Given the description of an element on the screen output the (x, y) to click on. 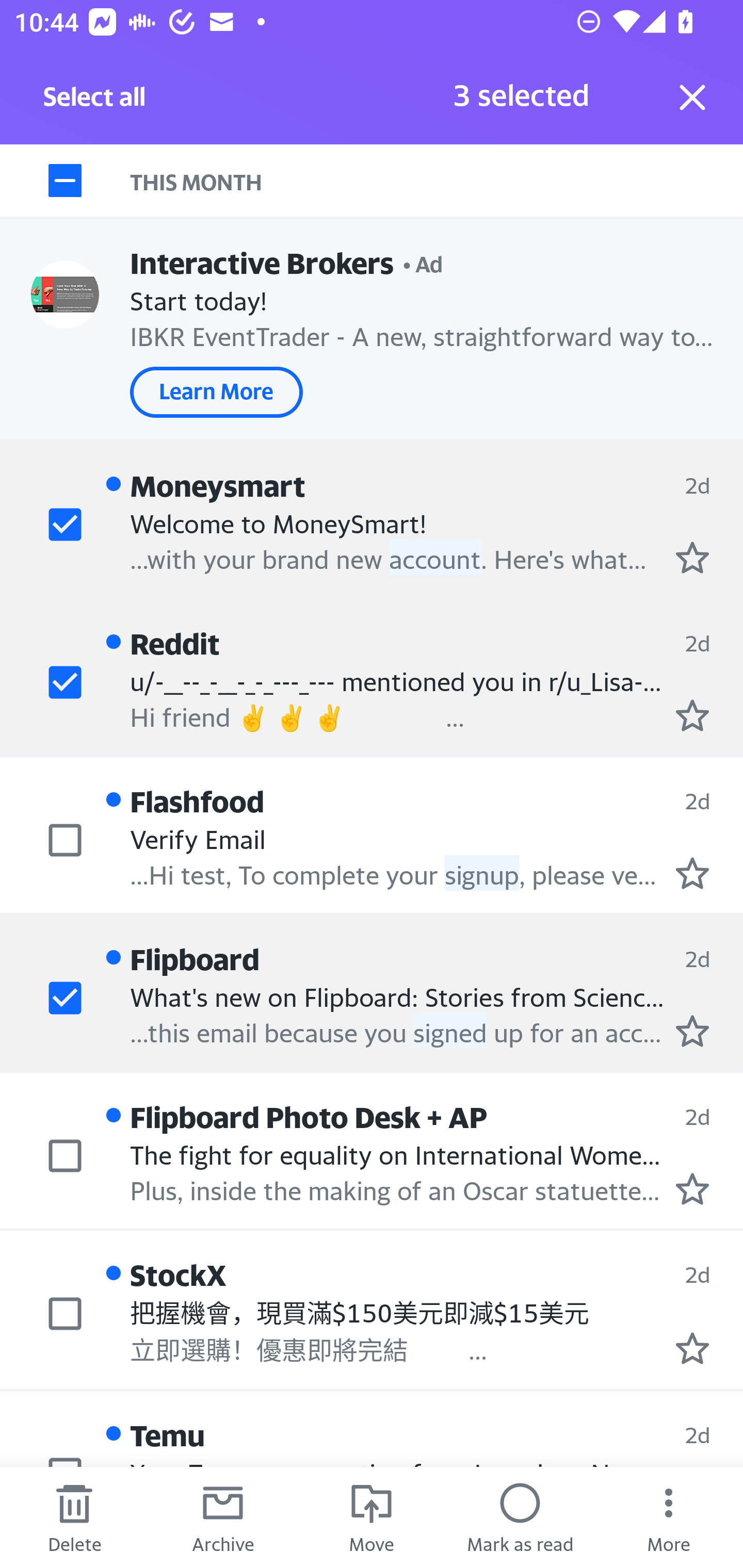
Exit selection mode (692, 97)
Select all (94, 101)
THIS MONTH (436, 180)
Mark as starred. (692, 557)
Mark as starred. (692, 715)
Mark as starred. (692, 872)
Mark as starred. (692, 1030)
Mark as starred. (692, 1189)
Mark as starred. (692, 1347)
Delete (74, 1517)
Archive (222, 1517)
Move (371, 1517)
Mark as read (519, 1517)
More (668, 1517)
